Given the description of an element on the screen output the (x, y) to click on. 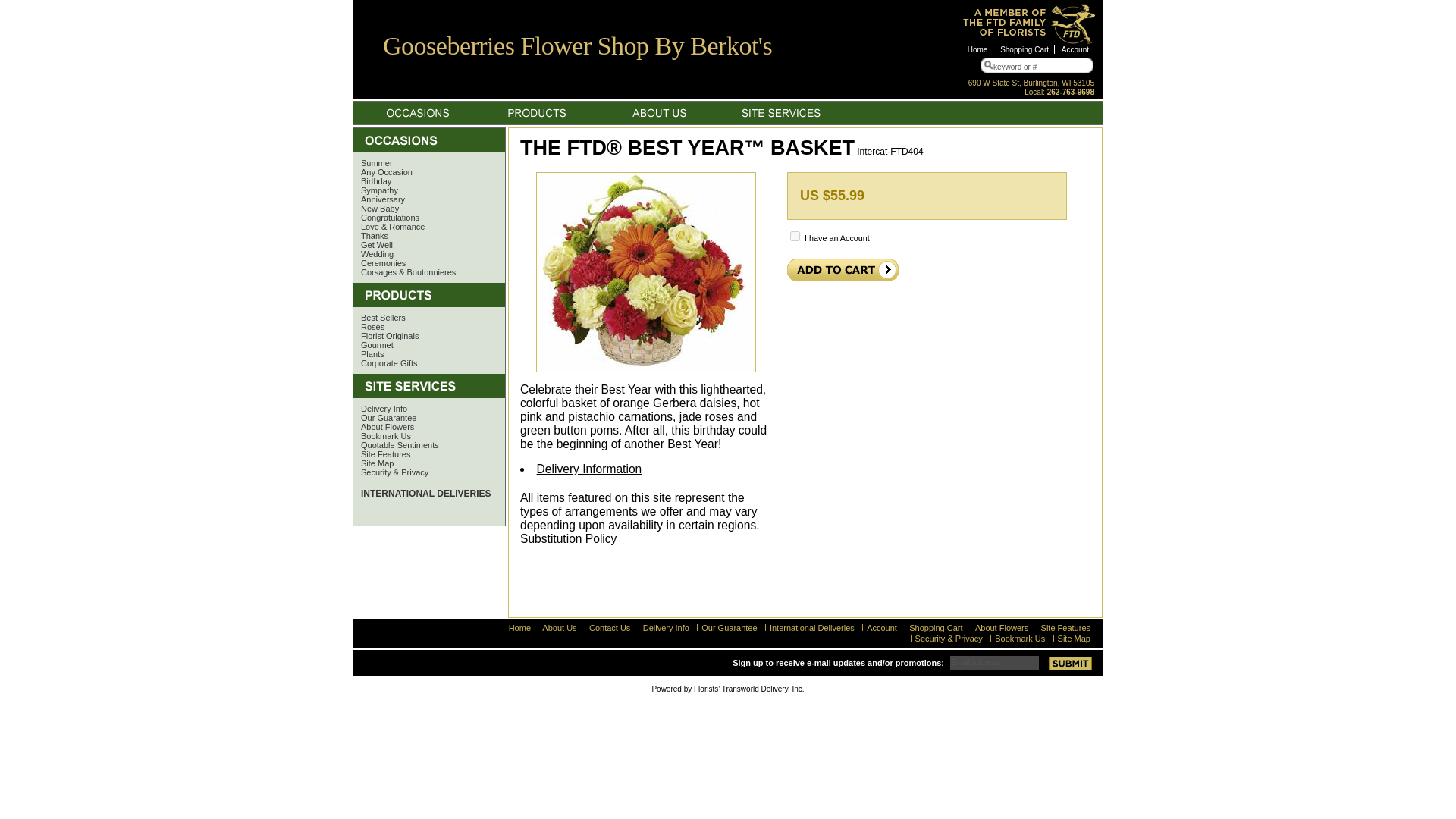
Account (1075, 49)
Yes (794, 235)
Email address (994, 662)
Shopping Cart (1024, 49)
Home (978, 49)
